Given the description of an element on the screen output the (x, y) to click on. 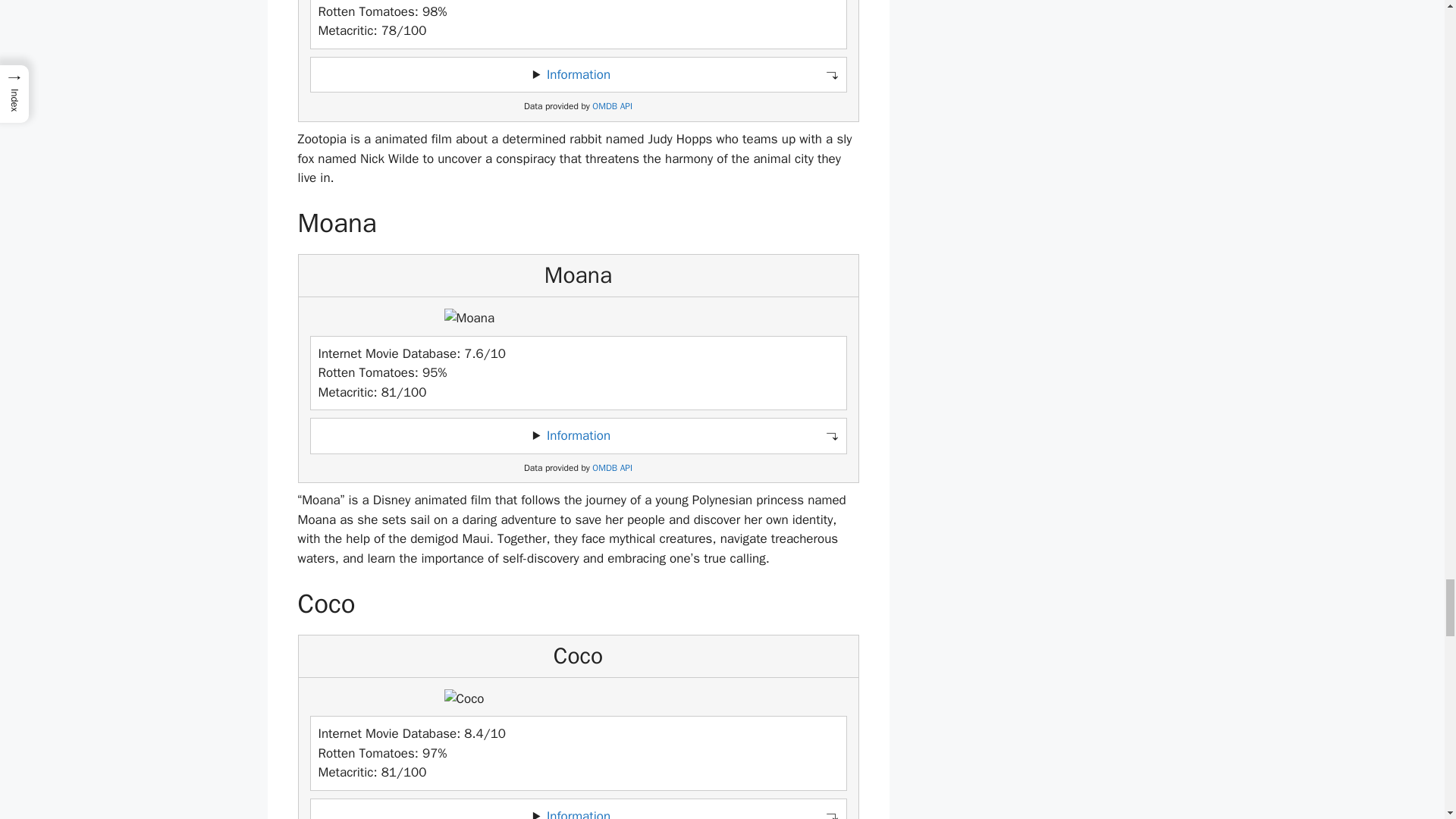
OMDB API (611, 468)
OMDB API (611, 106)
Information (578, 435)
Information (578, 74)
